Given the description of an element on the screen output the (x, y) to click on. 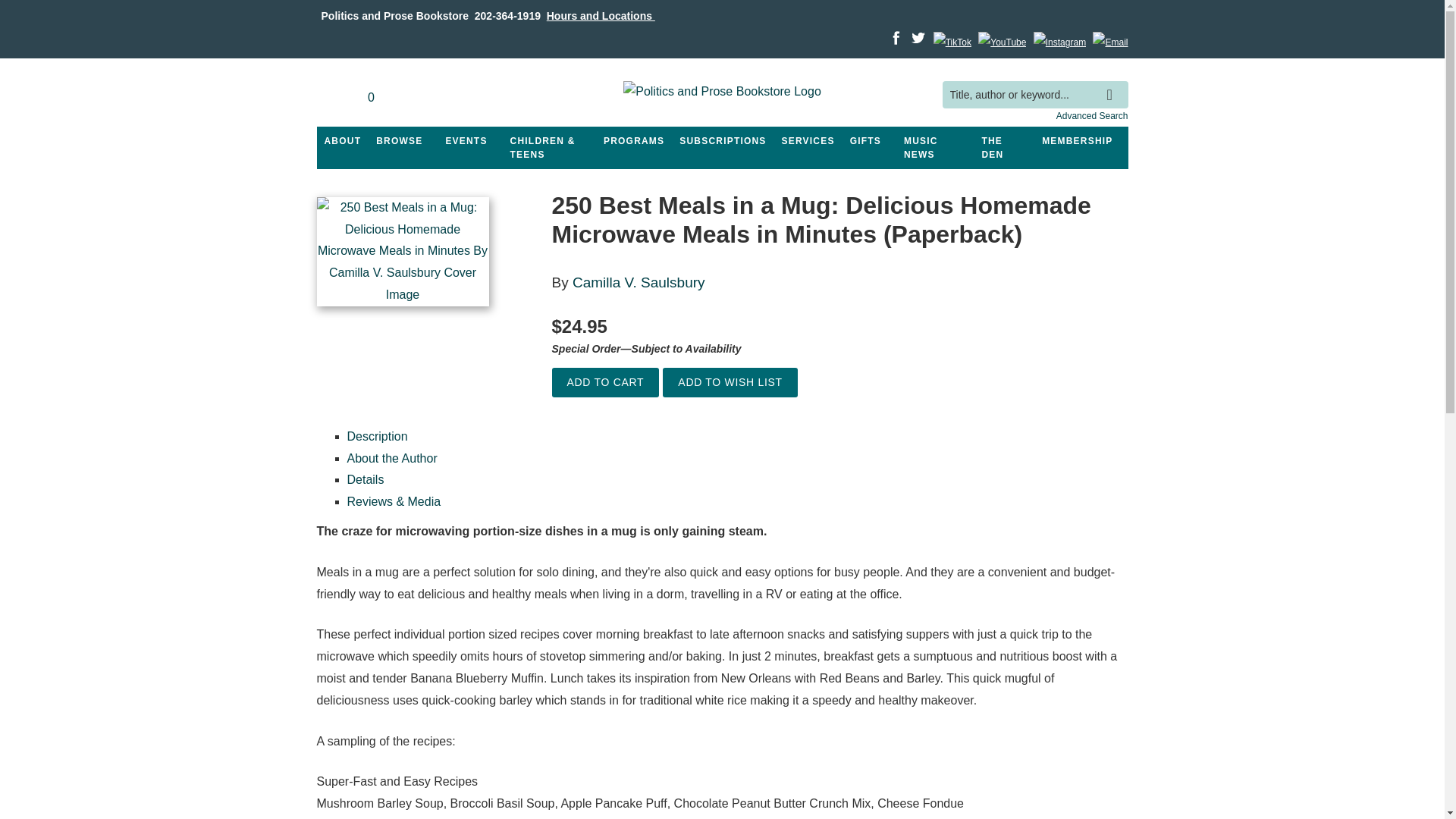
PROGRAMS (633, 140)
Browse our shelves (398, 140)
search (1112, 83)
BROWSE (398, 140)
Title, author or keyword... (1034, 94)
SERVICES (808, 140)
See our event calendar (465, 140)
SUBSCRIPTIONS (722, 140)
ABOUT (343, 140)
Add to Wish List (729, 382)
